Given the description of an element on the screen output the (x, y) to click on. 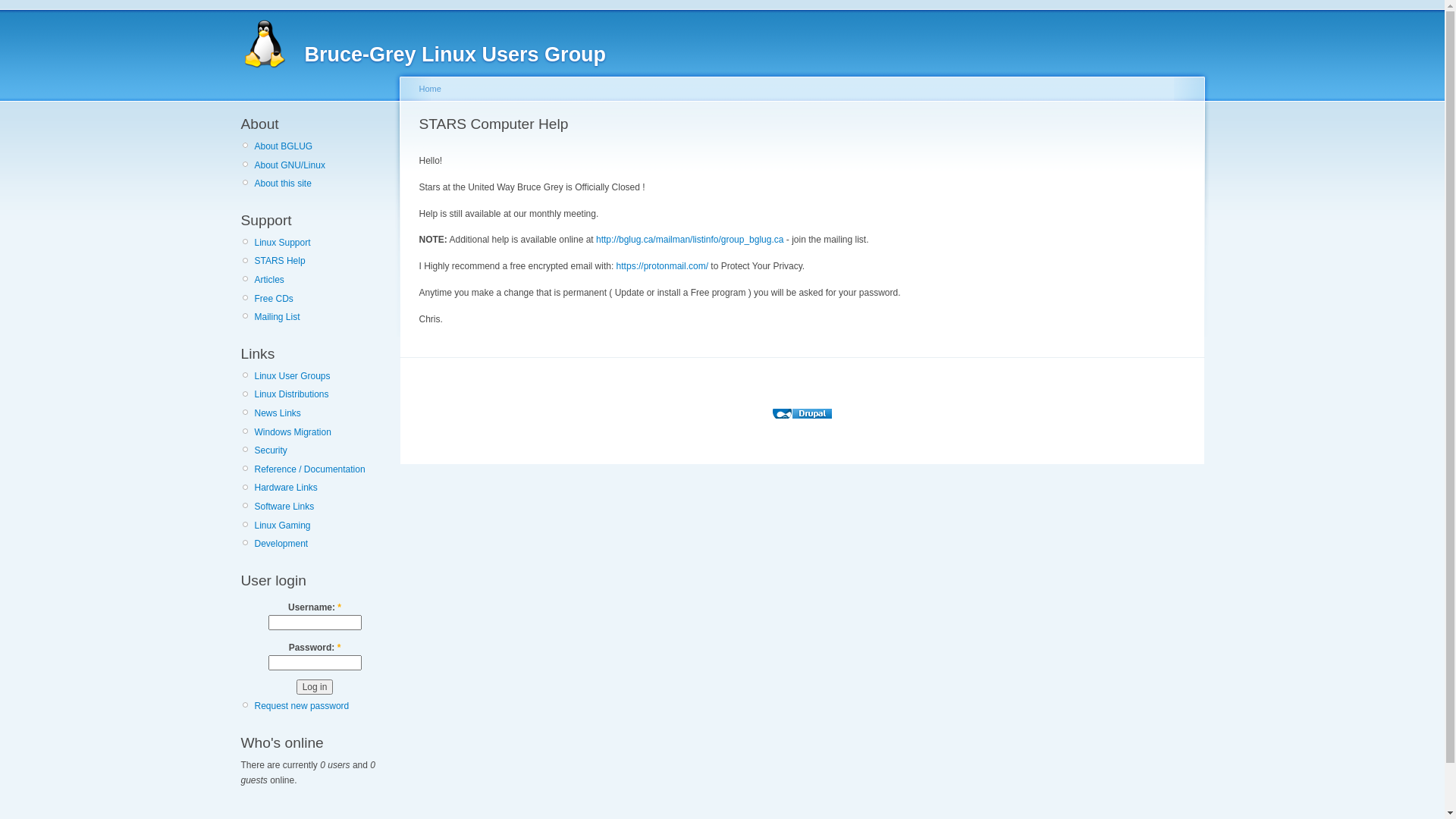
Bruce-Grey Linux Users Group Element type: text (455, 54)
Linux Gaming Element type: text (321, 525)
Request new password Element type: text (301, 705)
Windows Migration Element type: text (321, 431)
http://bglug.ca/mailman/listinfo/group_bglug.ca Element type: text (689, 239)
Free CDs Element type: text (321, 298)
Linux Support Element type: text (321, 242)
Security Element type: text (321, 450)
News Links Element type: text (321, 412)
Development Element type: text (321, 543)
STARS Help Element type: text (321, 260)
Reference / Documentation Element type: text (321, 468)
About BGLUG Element type: text (321, 145)
About GNU/Linux Element type: text (321, 164)
https://protonmail.com/ Element type: text (662, 265)
Log in Element type: text (314, 686)
About this site Element type: text (321, 183)
Mailing List Element type: text (321, 316)
Software Links Element type: text (321, 506)
Linux Distributions Element type: text (321, 393)
Hardware Links Element type: text (321, 487)
Powered by Drupal, an open source content management system Element type: hover (801, 413)
Home Element type: text (429, 88)
Linux User Groups Element type: text (321, 375)
Articles Element type: text (321, 279)
